Given the description of an element on the screen output the (x, y) to click on. 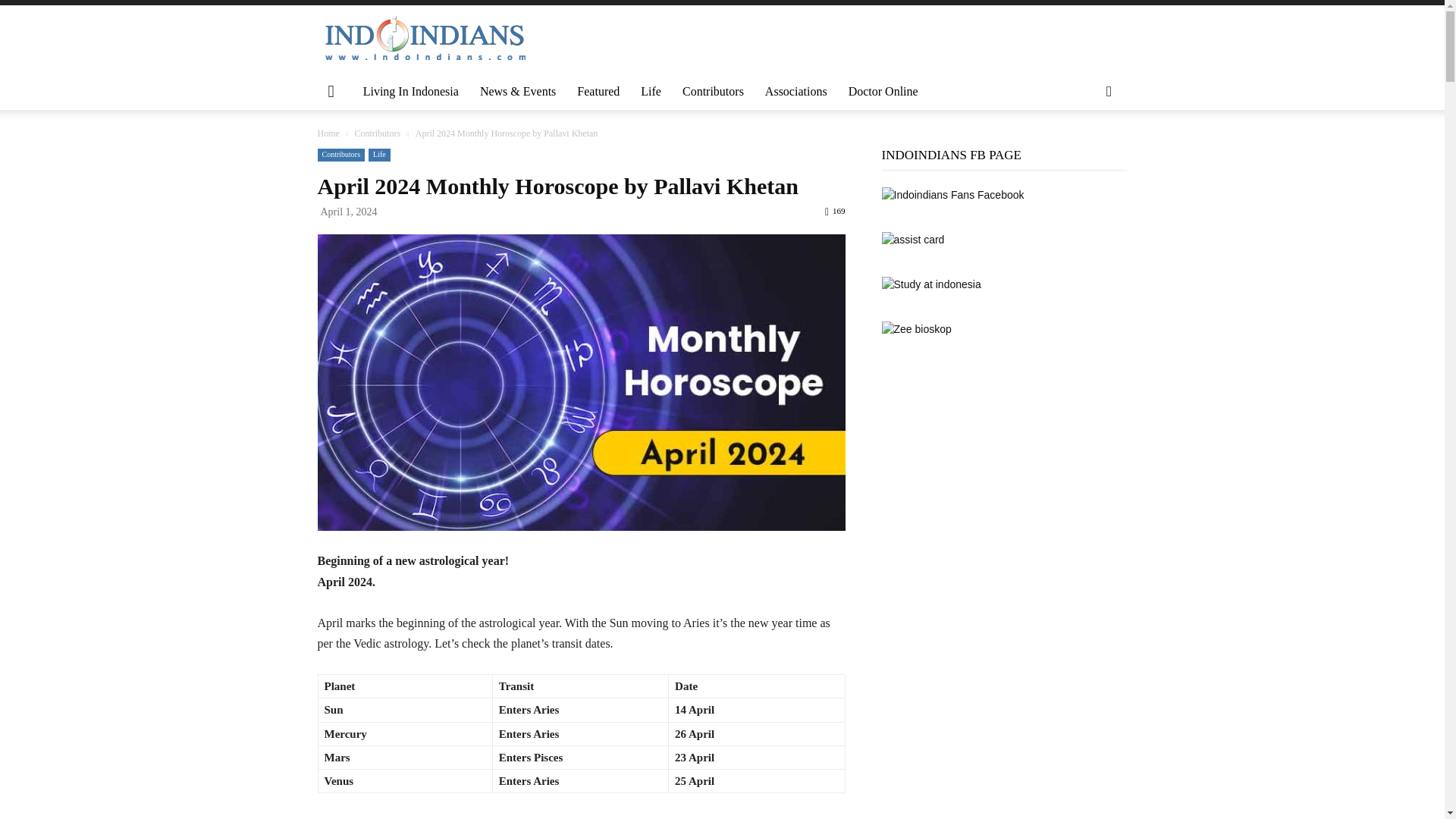
View all posts in Contributors (376, 132)
LOGO INDOINDIANS (424, 39)
